Given the description of an element on the screen output the (x, y) to click on. 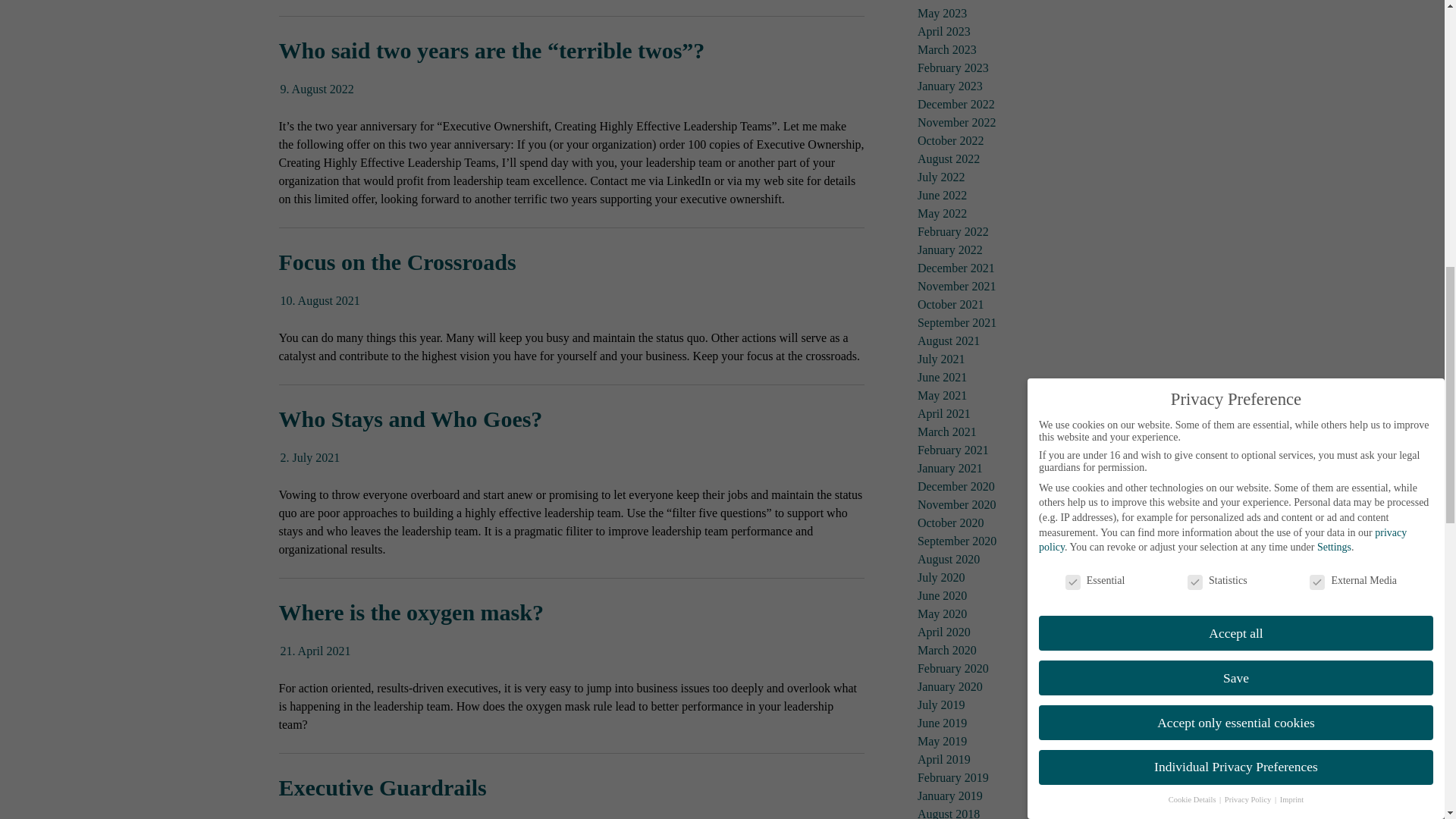
Focus on the Crossroads (397, 261)
Where is the oxygen mask? (411, 611)
9. August 2022 (317, 88)
Focus on the Crossroads (320, 300)
Where is the oxygen mask? (315, 650)
2. July 2021 (310, 457)
Who Stays and Who Goes? (411, 418)
Who Stays and Who Goes? (310, 457)
21. April 2021 (315, 650)
10. August 2021 (320, 300)
Executive Guardrails (382, 787)
Who Stays and Who Goes? (411, 418)
Focus on the Crossroads (397, 261)
Where is the oxygen mask? (411, 611)
